Given the description of an element on the screen output the (x, y) to click on. 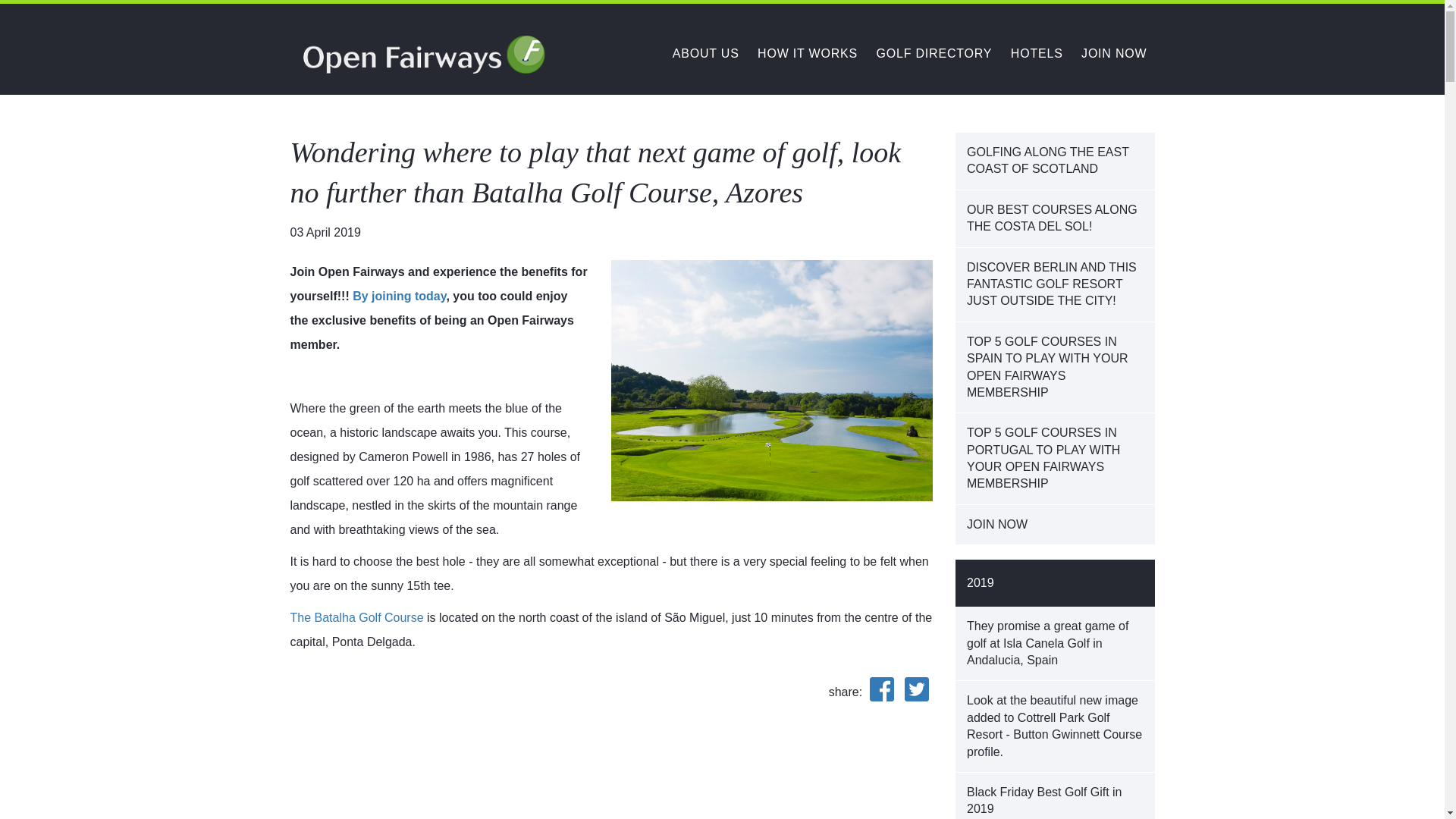
GOLFING ALONG THE EAST COAST OF SCOTLAND (1054, 160)
ABOUT US (705, 52)
Link to Hotels (1036, 52)
Link to how it works (807, 52)
OUR BEST COURSES ALONG THE COSTA DEL SOL! (1054, 218)
GOLF DIRECTORY (933, 52)
HOTELS (1036, 52)
